Given the description of an element on the screen output the (x, y) to click on. 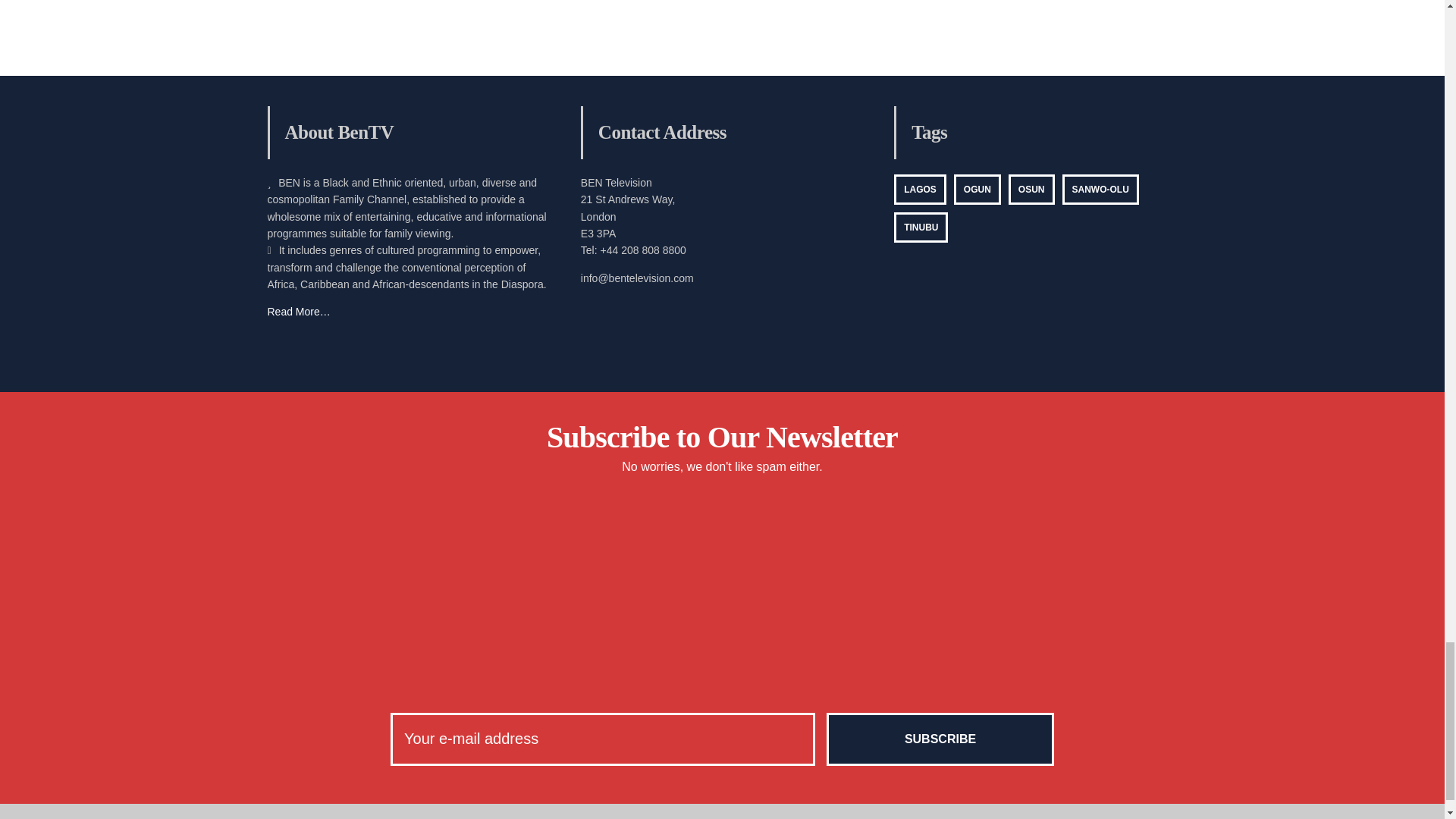
SUBSCRIBE (940, 738)
